Given the description of an element on the screen output the (x, y) to click on. 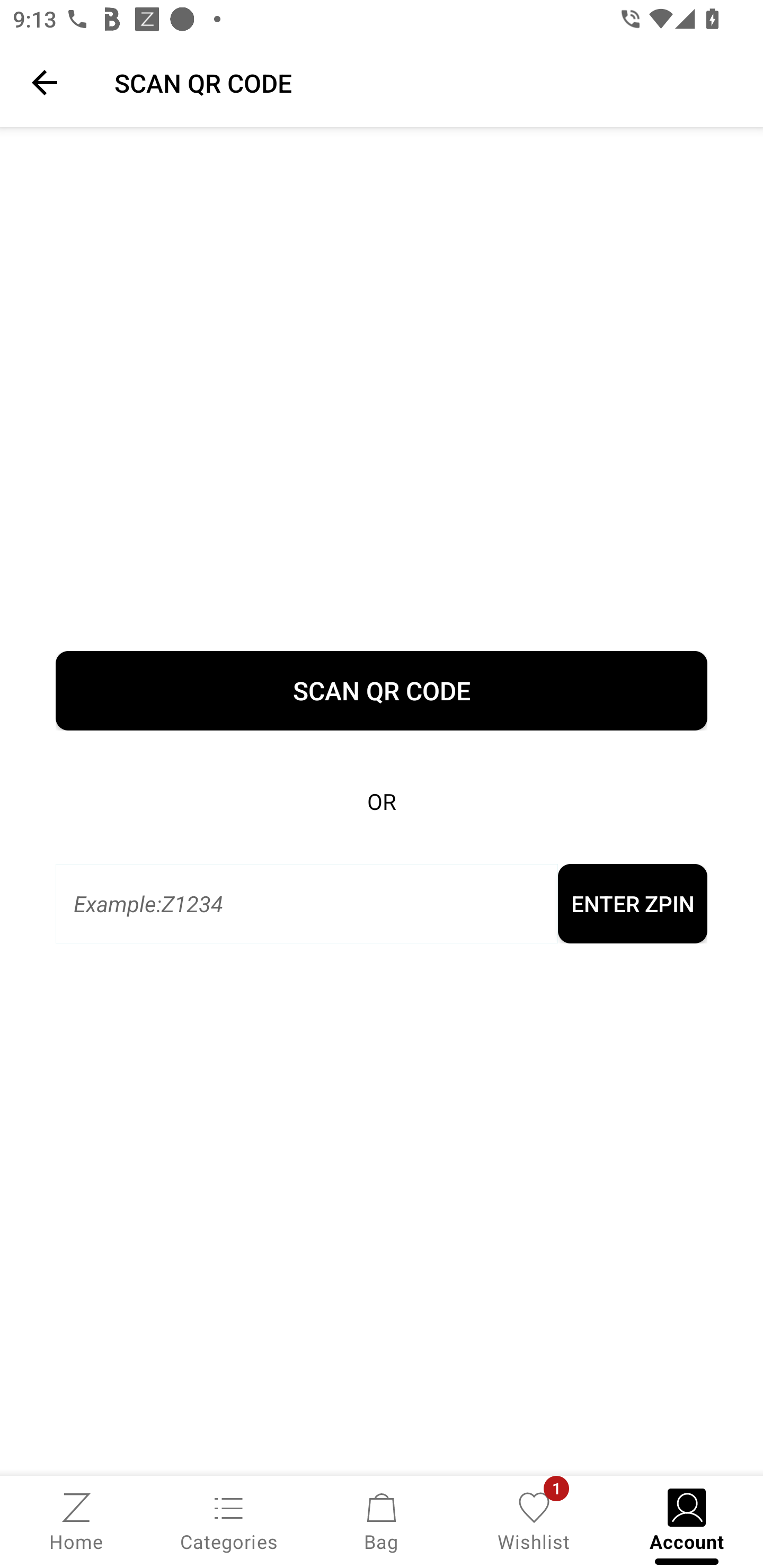
Navigate up (44, 82)
SCAN QR CODE (426, 82)
SCAN QR CODE (381, 690)
 Example:Z1234  (306, 903)
ENTER ZPIN (632, 903)
Home (76, 1519)
Categories (228, 1519)
Bag (381, 1519)
Wishlist, 1 new notification Wishlist (533, 1519)
